Given the description of an element on the screen output the (x, y) to click on. 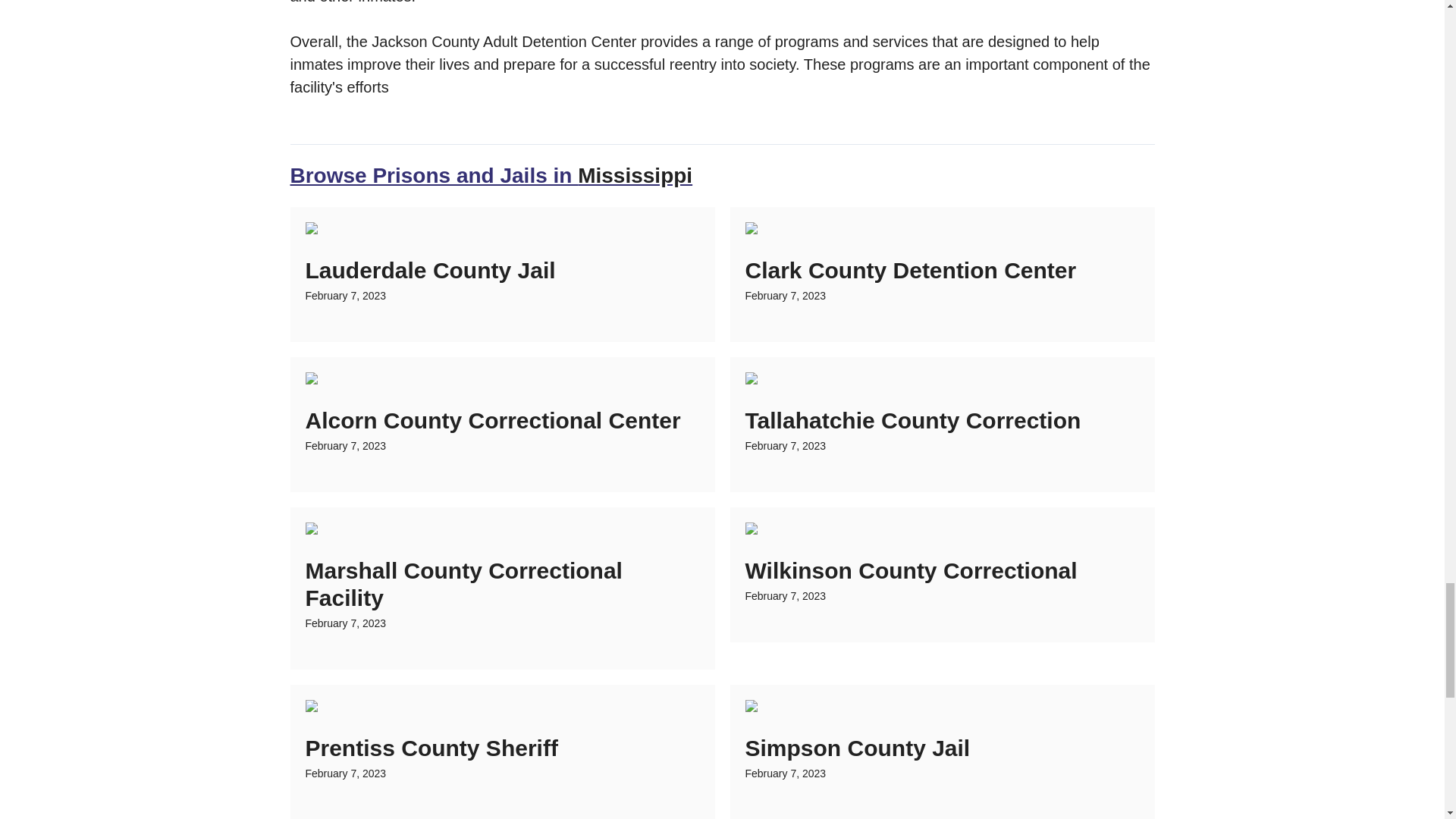
Mississippi (635, 175)
Lauderdale County Jail (429, 269)
Clark County Detention Center (909, 269)
